Given the description of an element on the screen output the (x, y) to click on. 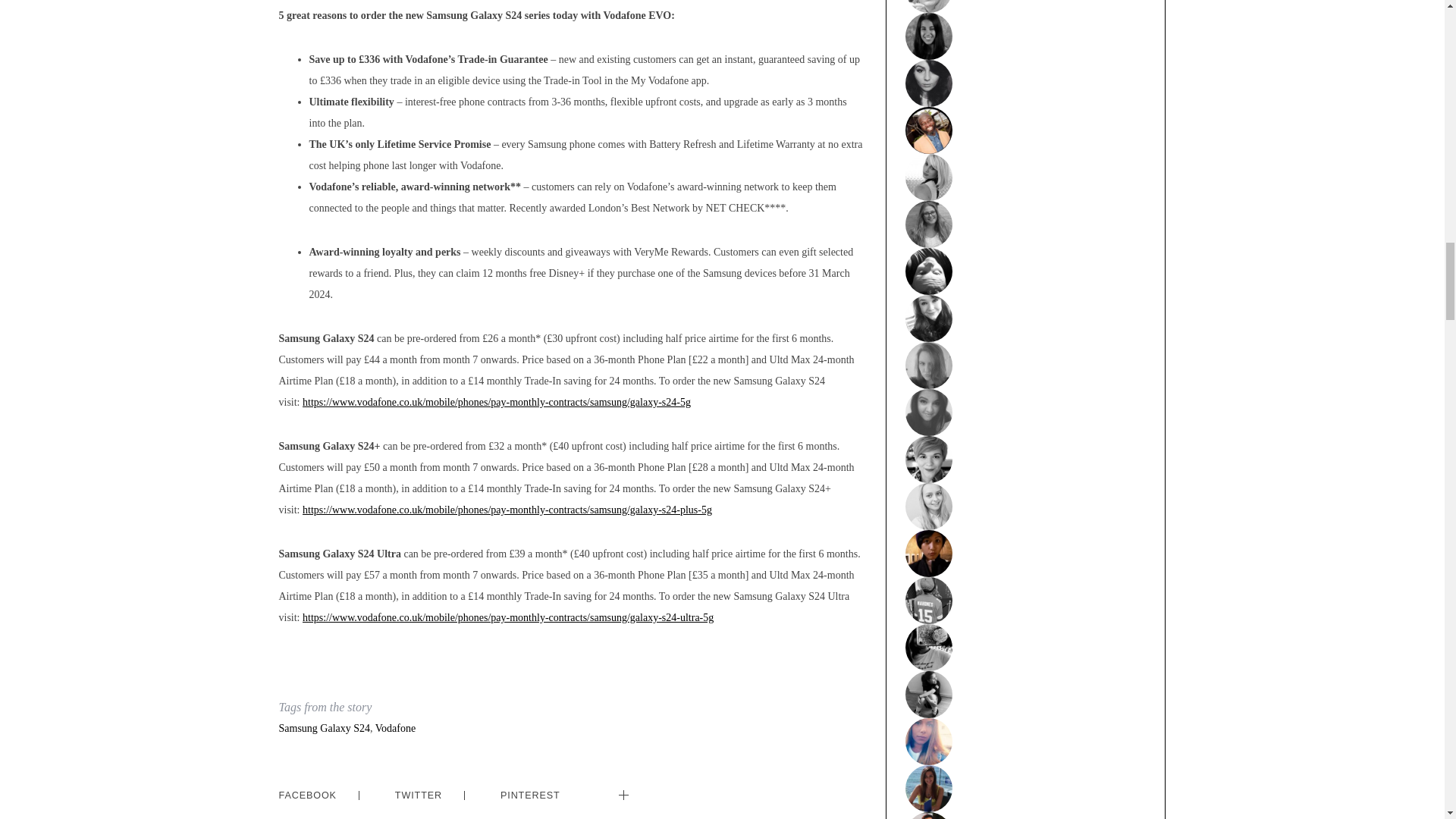
Vodafone (394, 727)
Samsung Galaxy S24 (325, 727)
FACEBOOK (307, 794)
LINKEDIN (668, 784)
TWITTER (418, 794)
PINTEREST (530, 794)
